Given the description of an element on the screen output the (x, y) to click on. 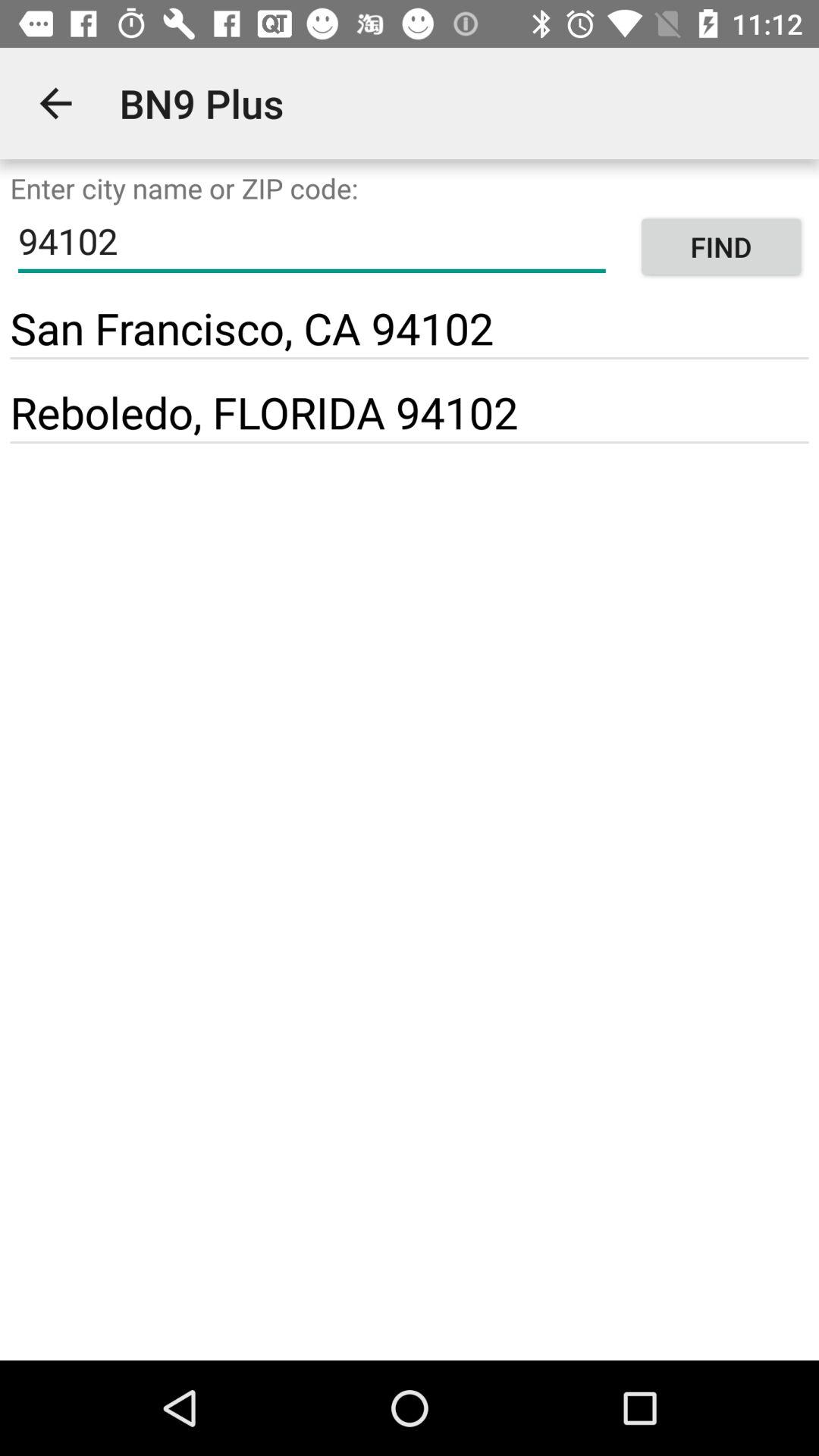
click the item next to find item (251, 327)
